Given the description of an element on the screen output the (x, y) to click on. 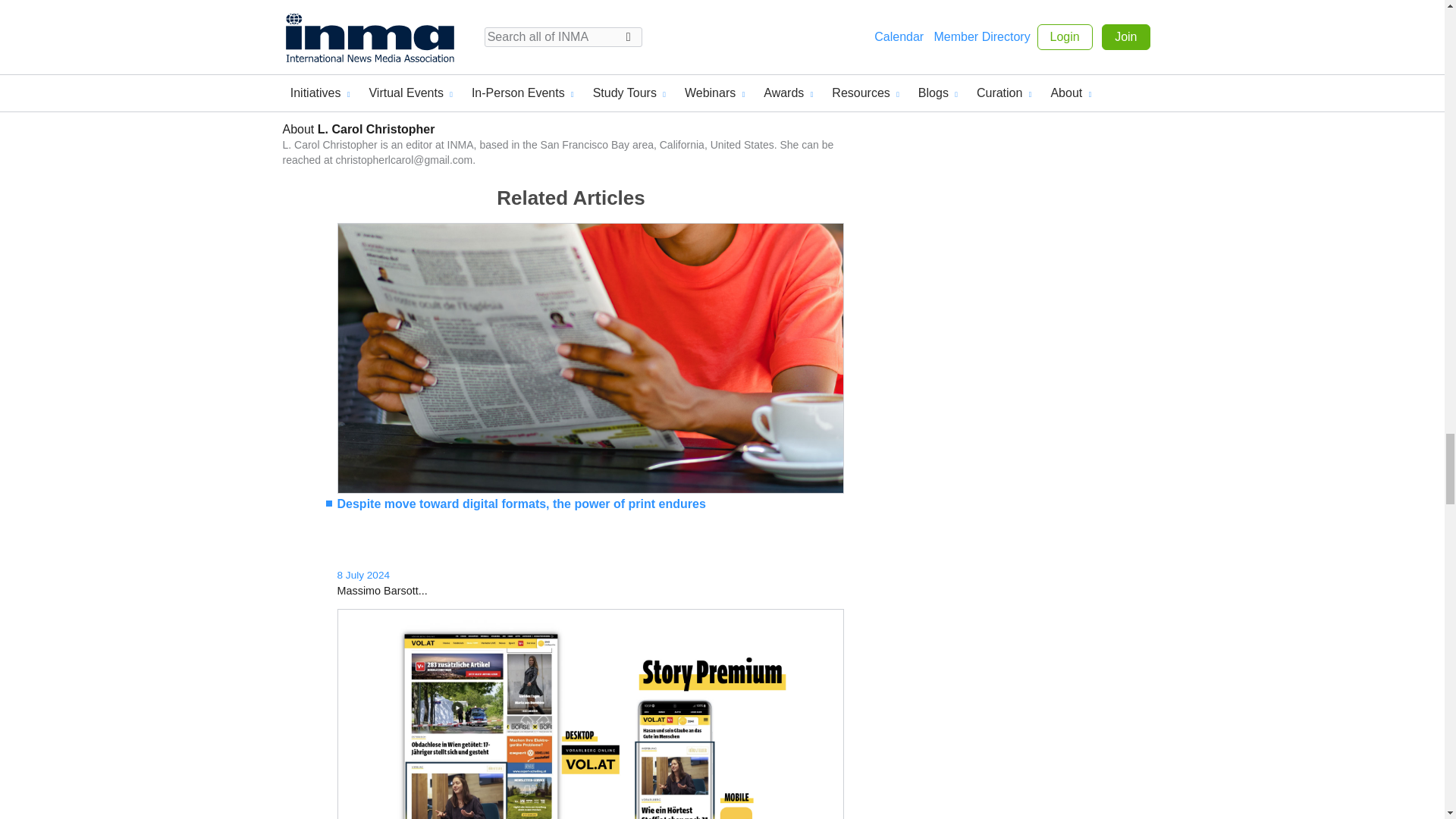
Massimo Barsotti (590, 590)
